Given the description of an element on the screen output the (x, y) to click on. 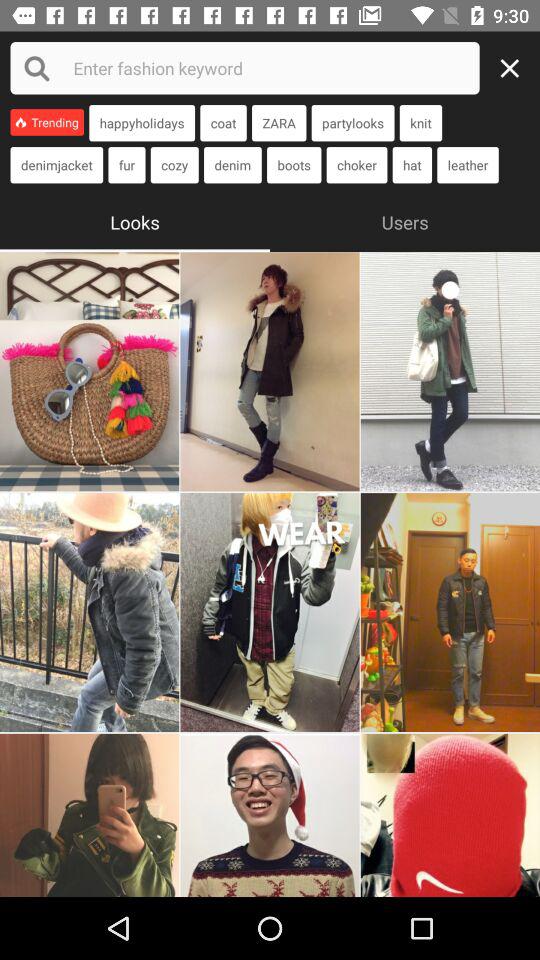
photo looks (269, 612)
